Given the description of an element on the screen output the (x, y) to click on. 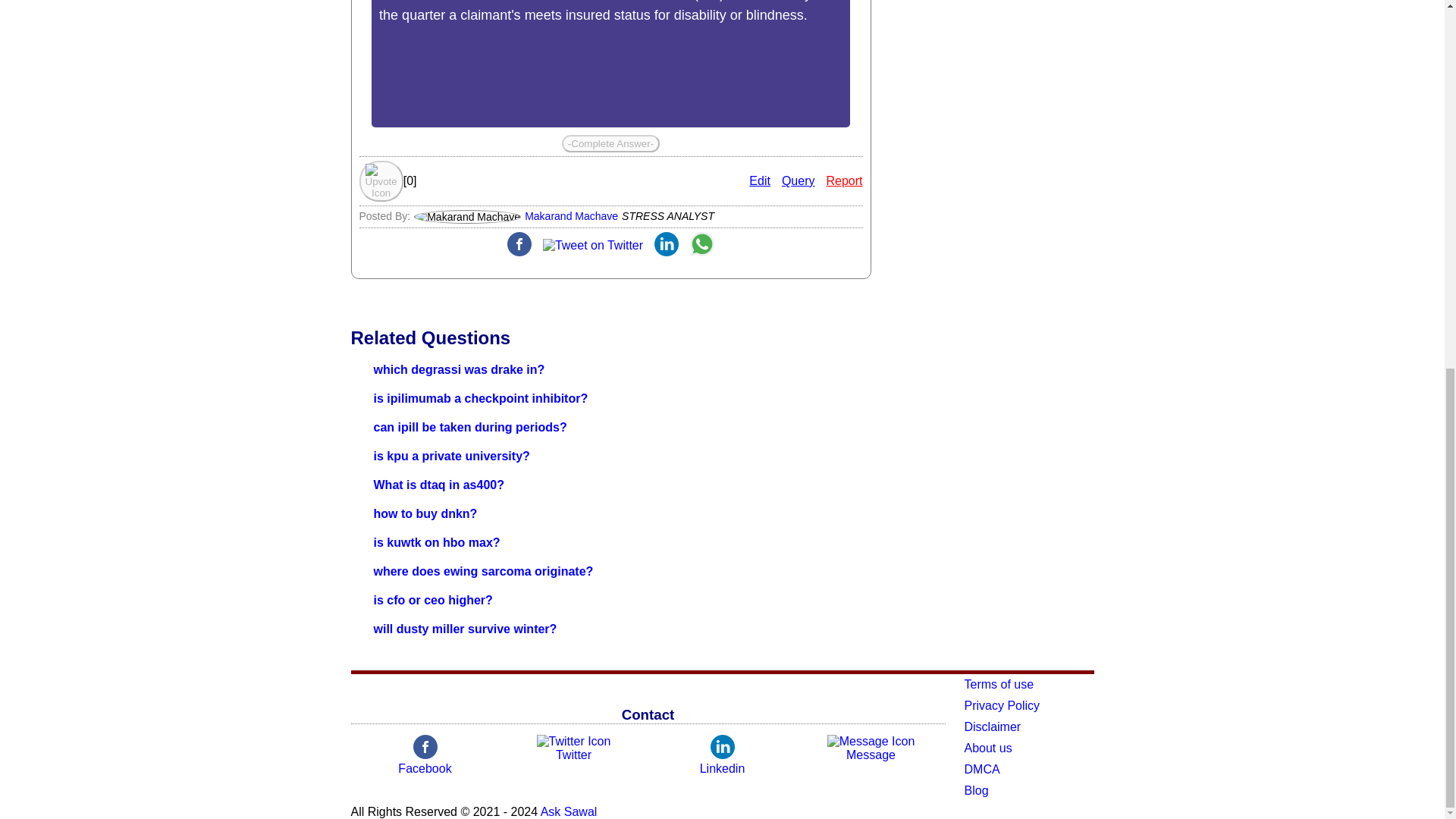
is kuwtk on hbo max? (435, 542)
is kpu a private university? (450, 455)
Makarand Machave (570, 215)
is ipilimumab a checkpoint inhibitor? (480, 398)
can ipill be taken during periods? (469, 427)
which degrassi was drake in? (458, 369)
is cfo or ceo higher? (432, 599)
where does ewing sarcoma originate? (482, 571)
will dusty miller survive winter? (464, 628)
What is dtaq in as400? (437, 484)
